Given the description of an element on the screen output the (x, y) to click on. 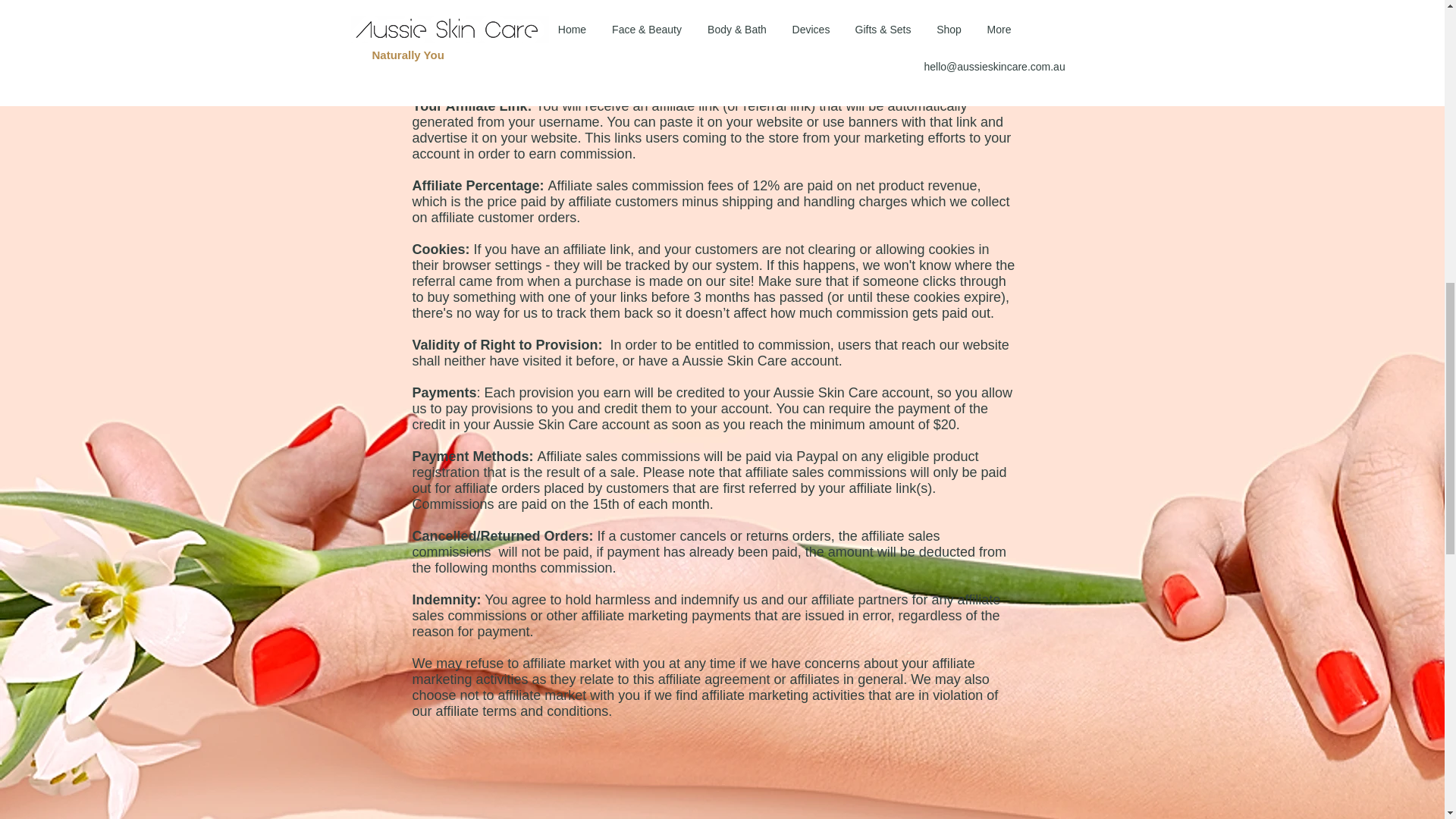
Minus417 (643, 10)
